Given the description of an element on the screen output the (x, y) to click on. 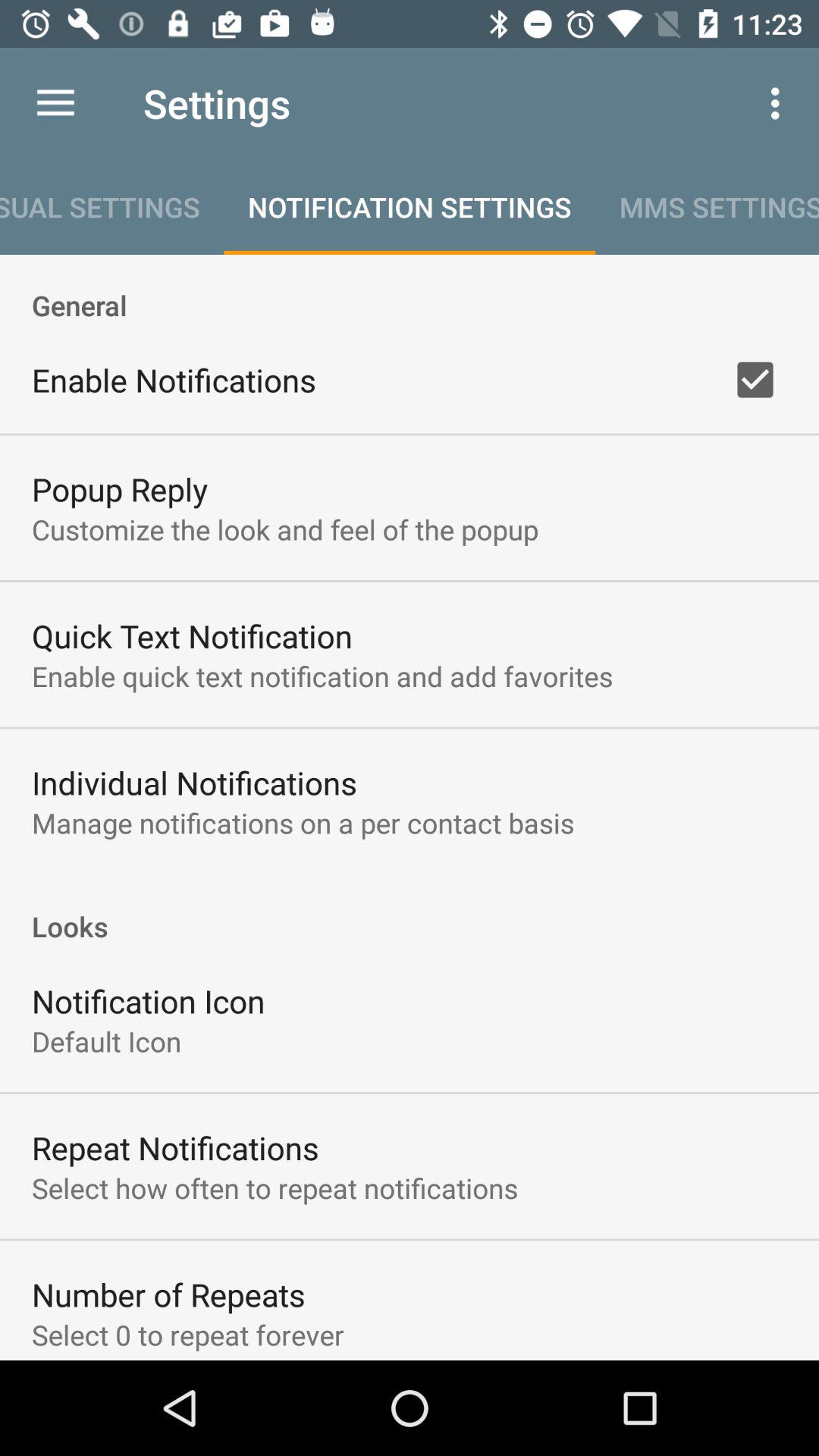
turn off looks icon (409, 910)
